Given the description of an element on the screen output the (x, y) to click on. 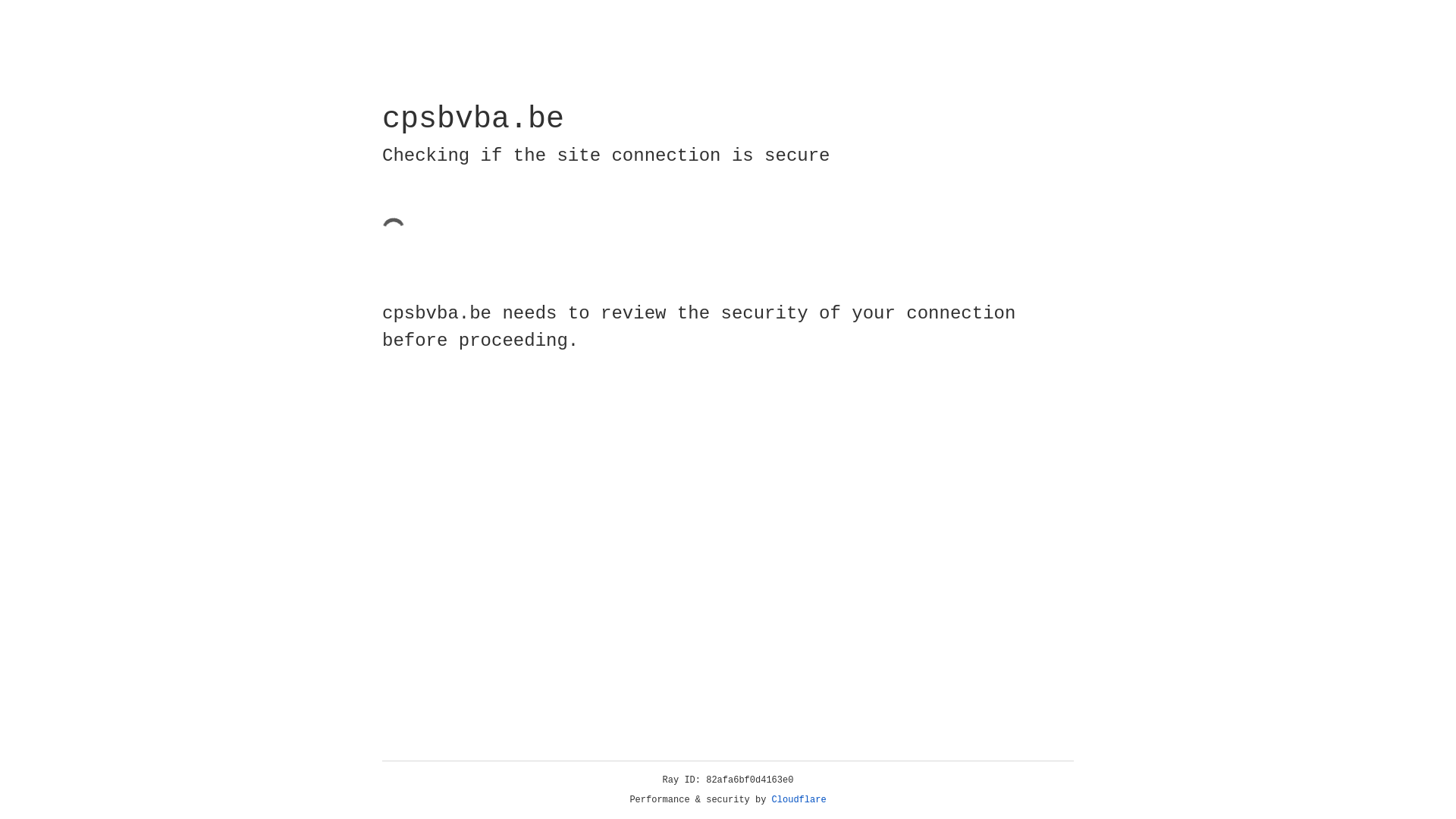
Cloudflare Element type: text (798, 799)
